Given the description of an element on the screen output the (x, y) to click on. 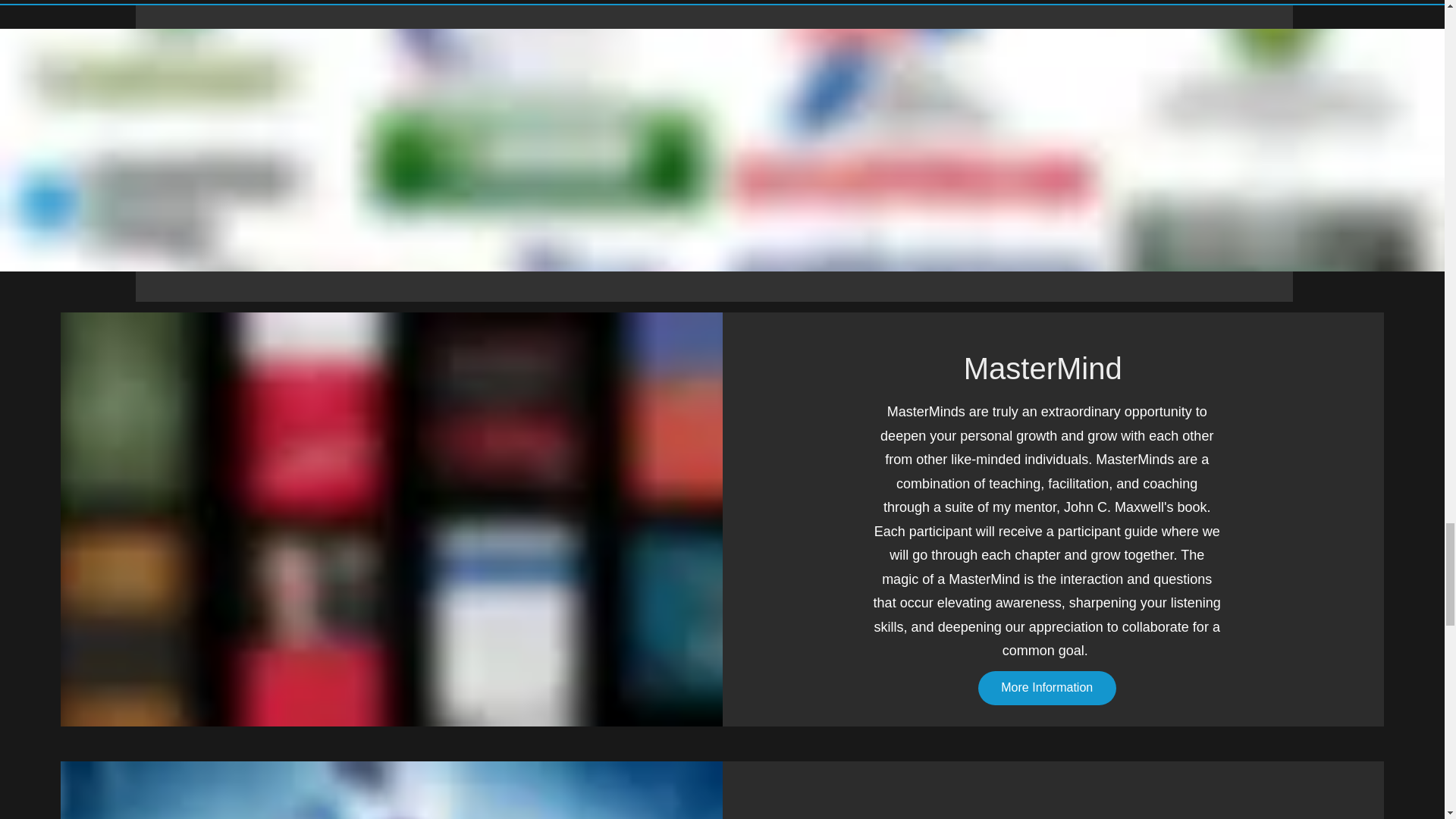
More Information (1047, 687)
